Given the description of an element on the screen output the (x, y) to click on. 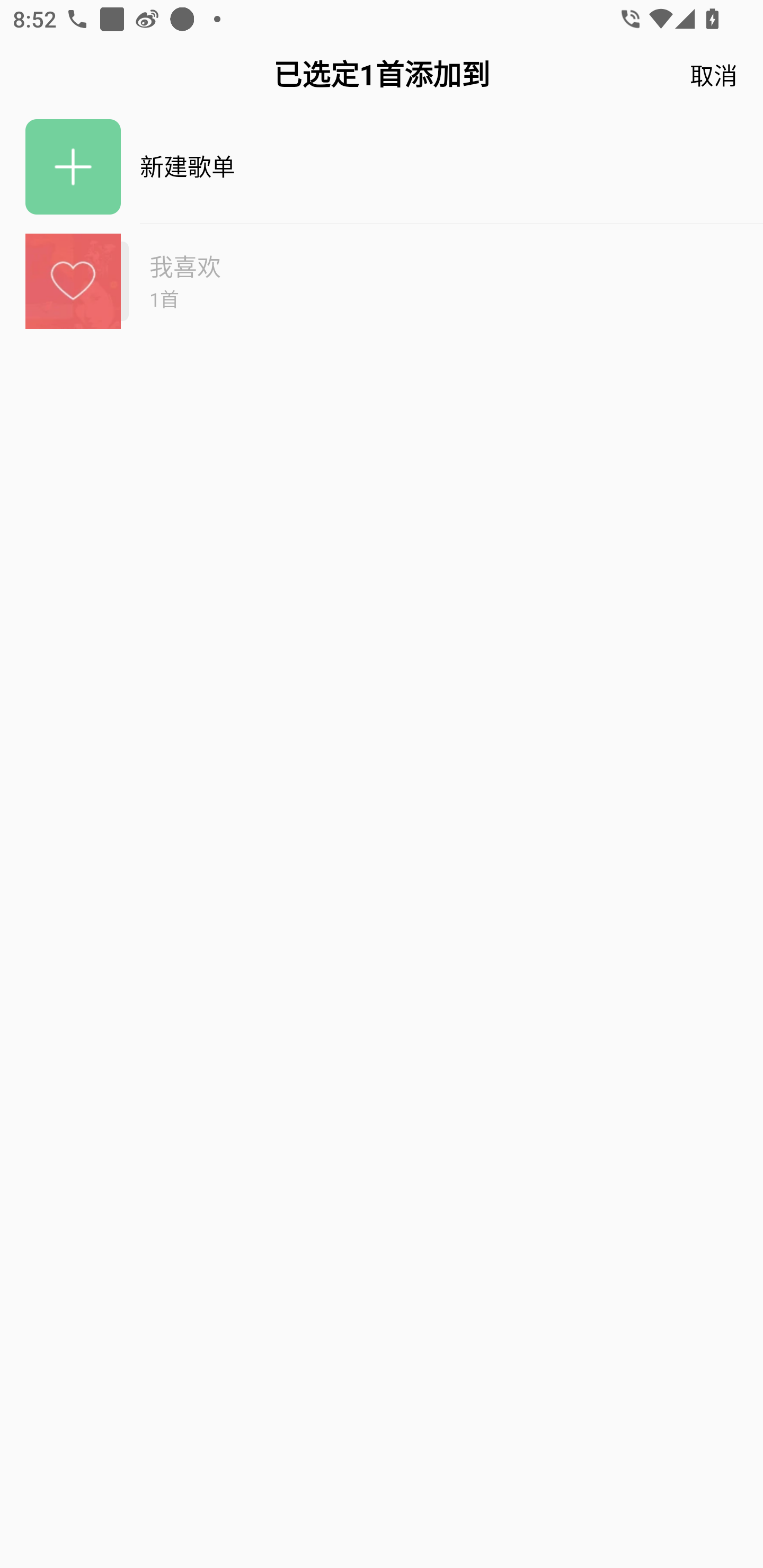
取消 (711, 74)
新建歌单 (381, 166)
我喜欢 1首 (381, 281)
